Given the description of an element on the screen output the (x, y) to click on. 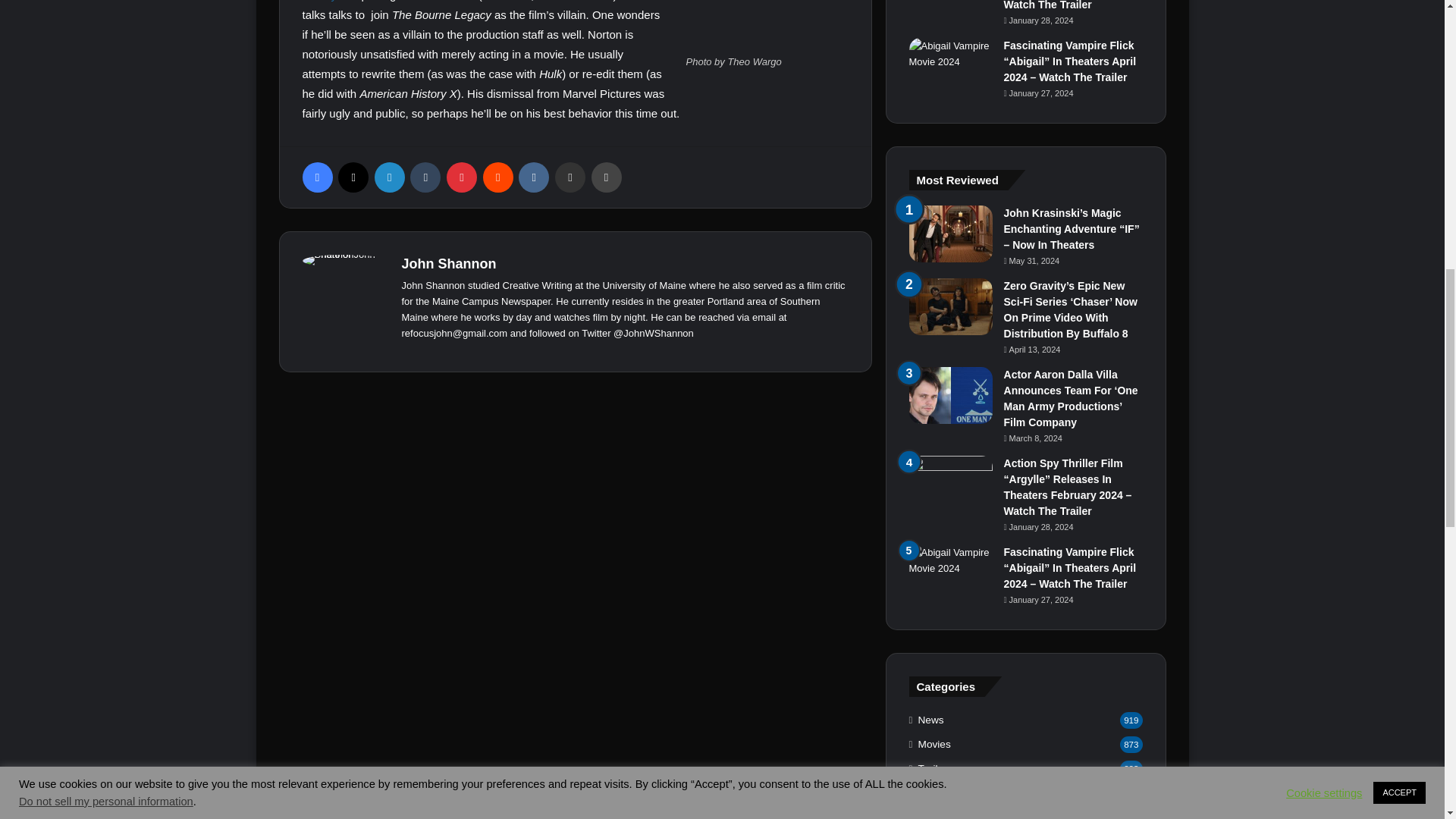
Tumblr (425, 177)
Pinterest (461, 177)
X (352, 177)
Print (606, 177)
Facebook (316, 177)
Reddit (498, 177)
VKontakte (533, 177)
edward-norton (766, 25)
LinkedIn (389, 177)
Share via Email (569, 177)
